Given the description of an element on the screen output the (x, y) to click on. 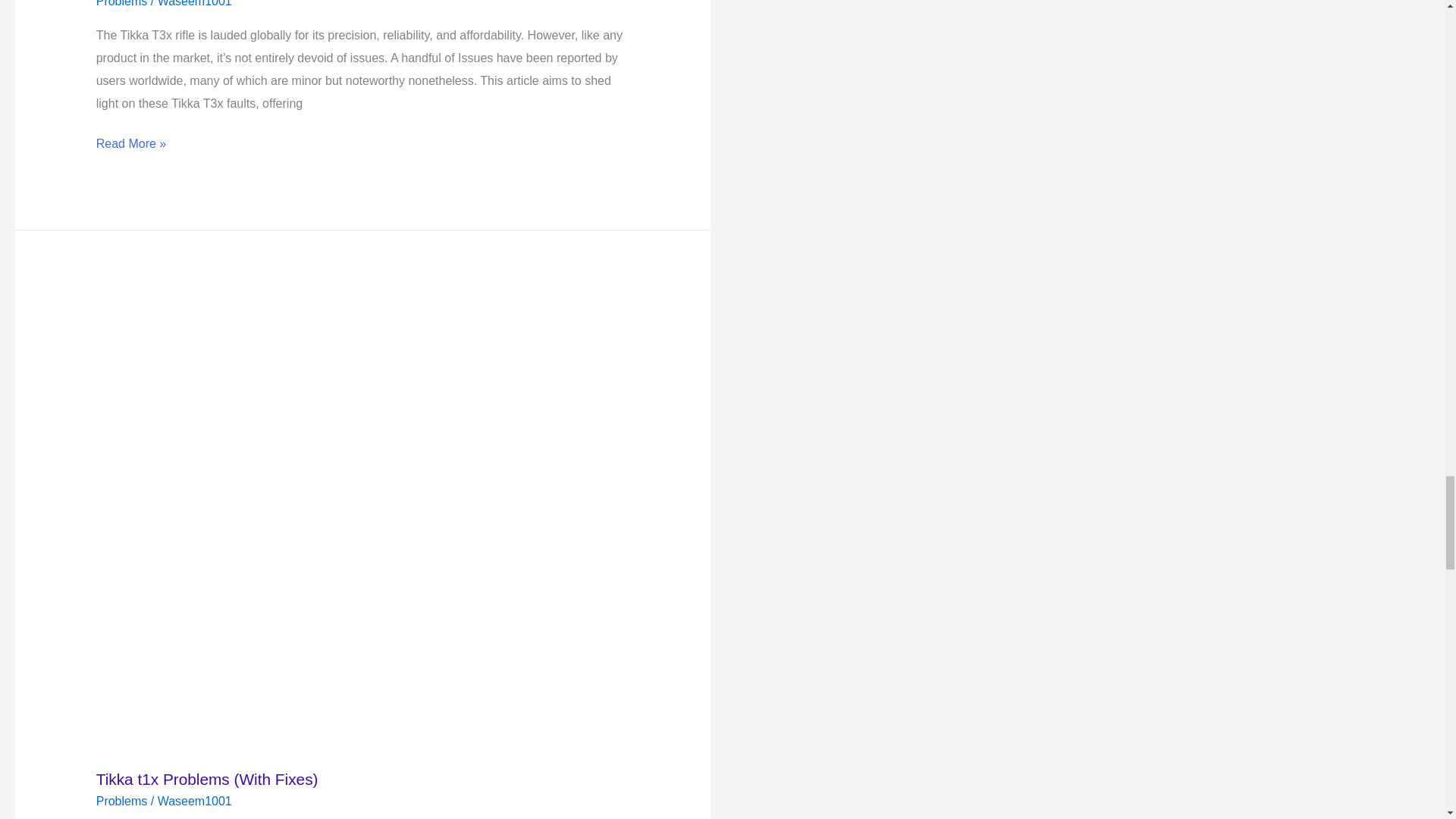
View all posts by Waseem1001 (194, 3)
View all posts by Waseem1001 (194, 800)
